Given the description of an element on the screen output the (x, y) to click on. 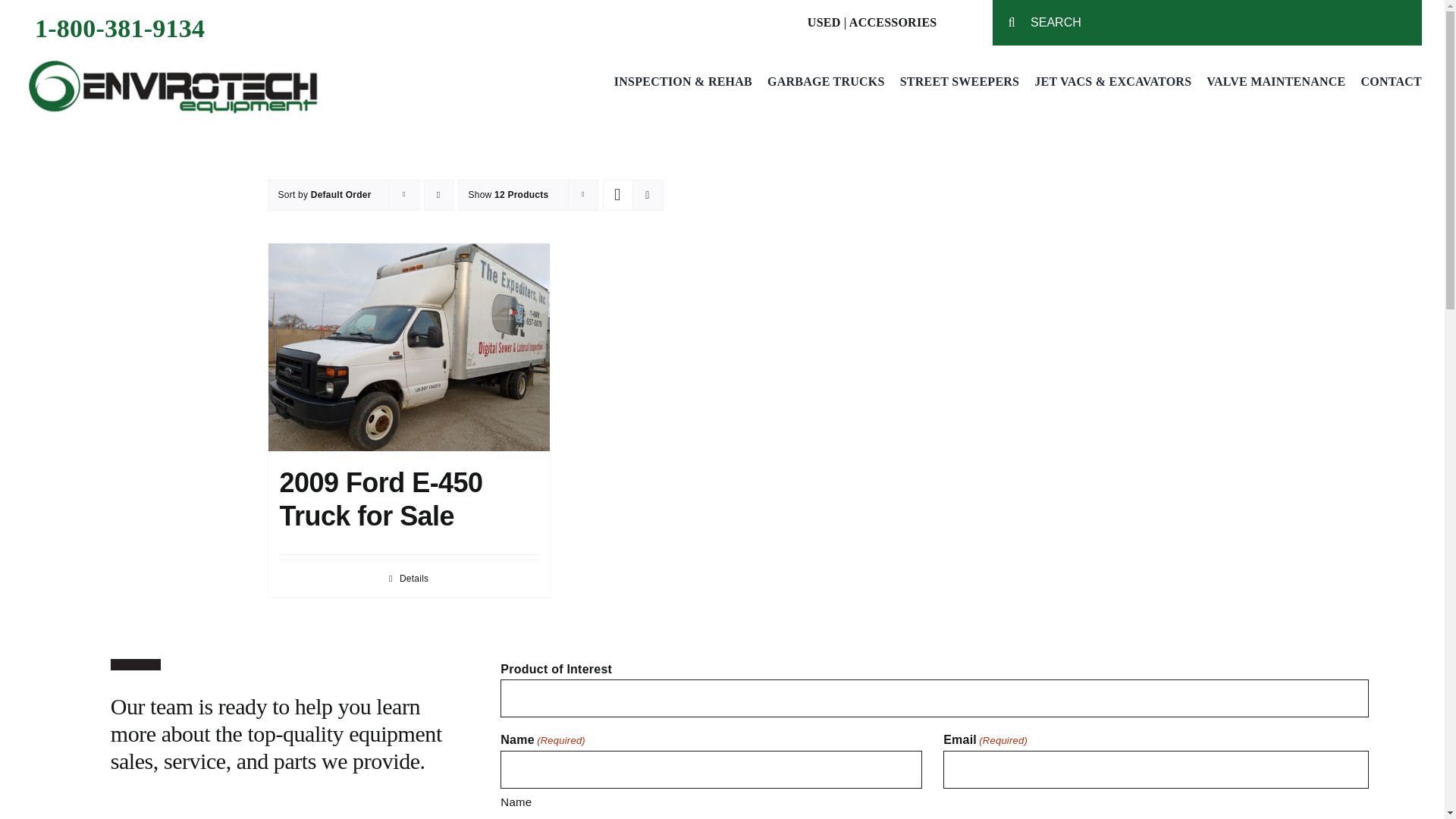
ACCESSORIES (892, 21)
STREET SWEEPERS (959, 81)
USED (824, 21)
GARBAGE TRUCKS (826, 81)
VALVE MAINTENANCE (1276, 81)
